Given the description of an element on the screen output the (x, y) to click on. 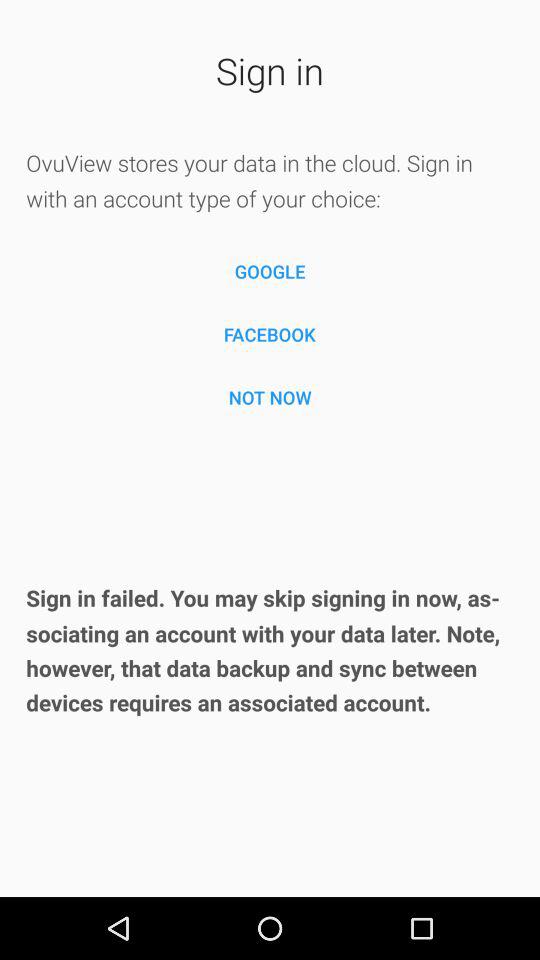
select icon above facebook (269, 271)
